Given the description of an element on the screen output the (x, y) to click on. 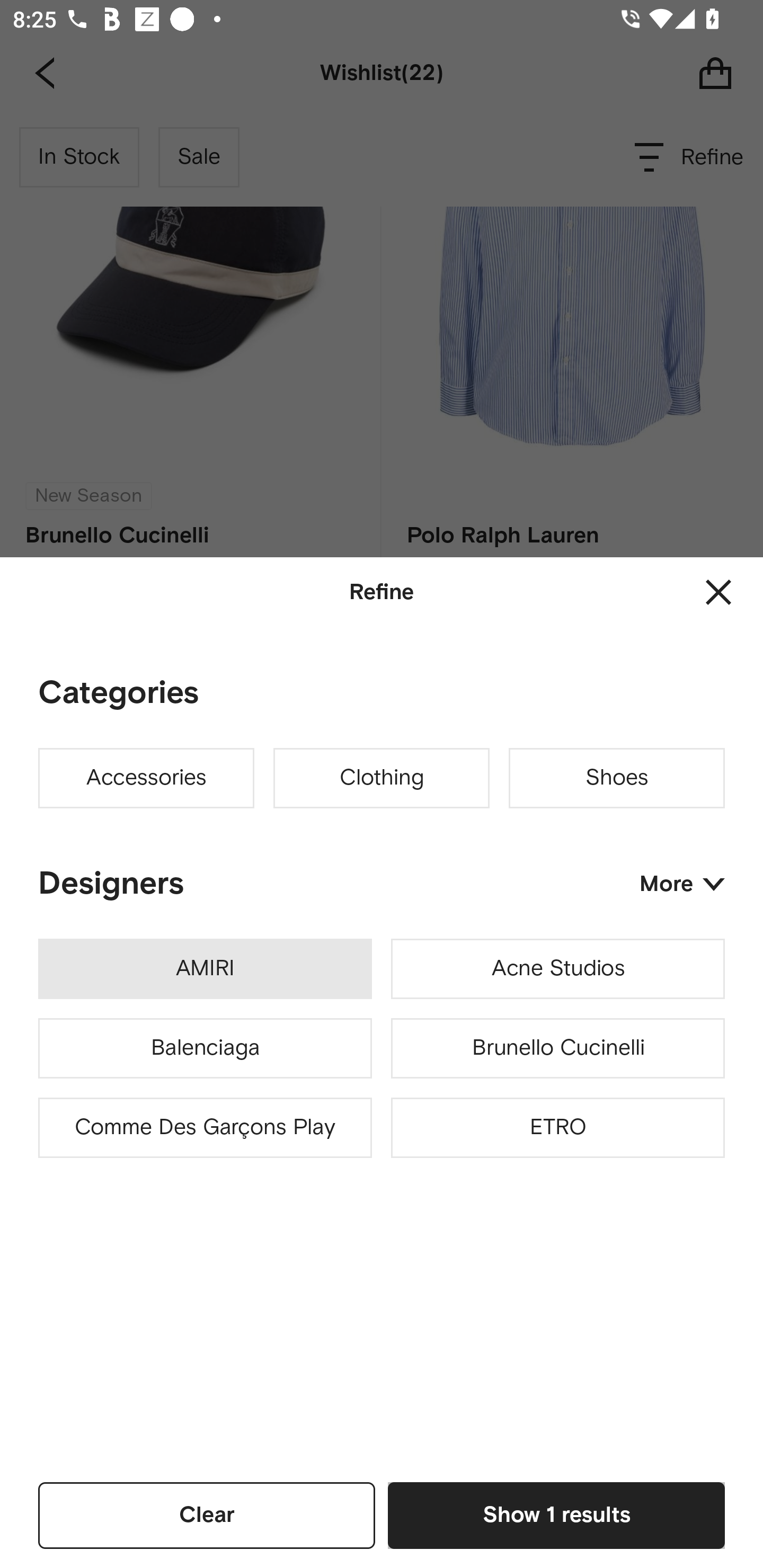
Accessories (146, 778)
Clothing (381, 778)
Shoes (616, 778)
More (681, 884)
AMIRI (205, 968)
Acne Studios (557, 968)
Balenciaga (205, 1047)
Brunello Cucinelli (557, 1047)
Comme Des Garçons Play (205, 1127)
ETRO (557, 1127)
Clear (206, 1515)
Show 1 results (555, 1515)
